Given the description of an element on the screen output the (x, y) to click on. 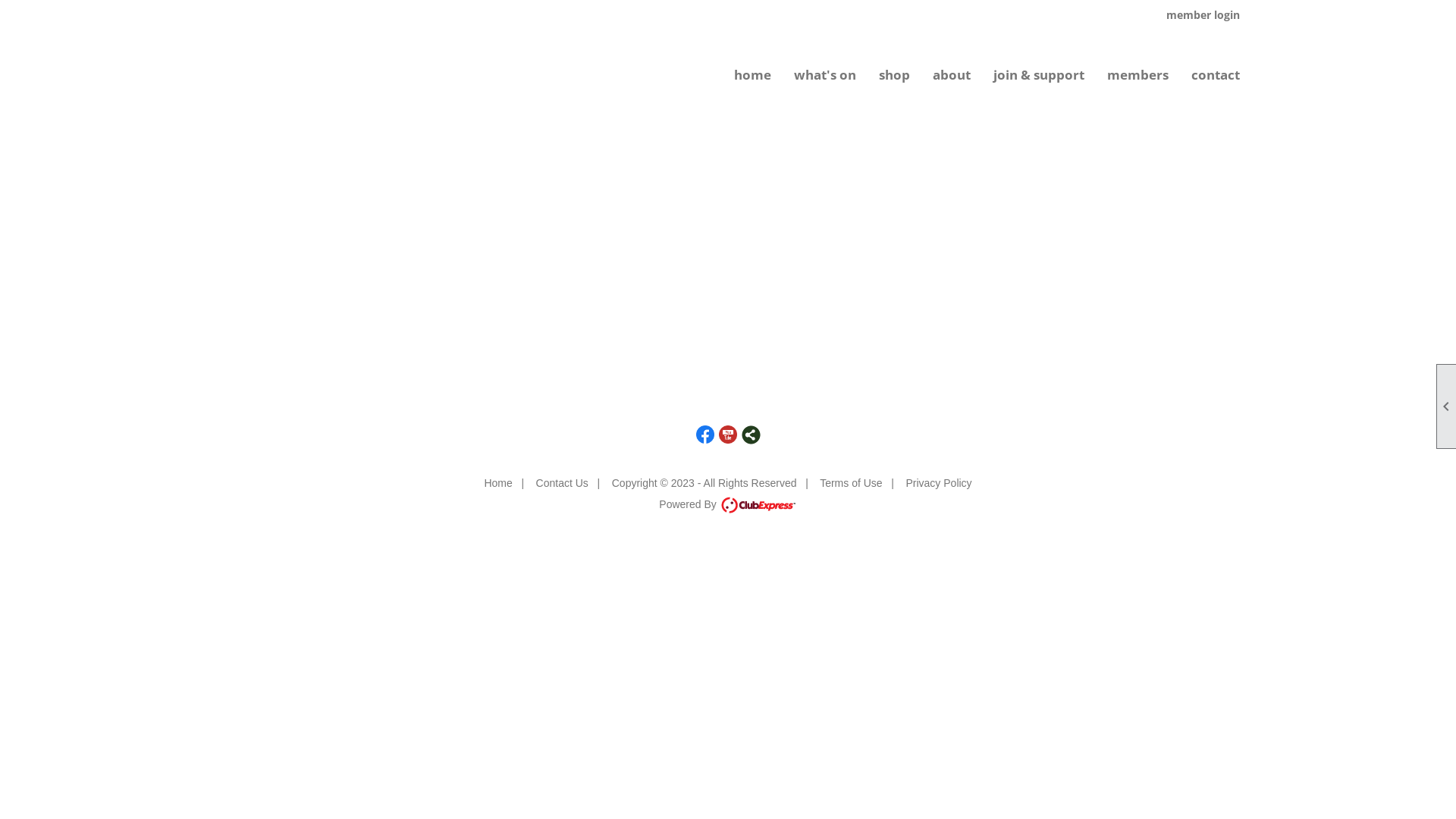
Click here for more sharing options Element type: hover (750, 434)
contact Element type: text (1215, 74)
Contact Us Element type: text (562, 482)
Privacy Policy Element type: text (938, 482)
join & support Element type: text (1038, 74)
Visit us on YouTube Element type: hover (727, 434)
Powered By  Element type: text (727, 504)
Terms of Use Element type: text (850, 482)
Home Element type: text (497, 482)
member login Element type: text (1208, 14)
shop Element type: text (894, 74)
home Element type: text (752, 74)
Visit us on Facebook Element type: hover (705, 434)
members Element type: text (1137, 74)
